Given the description of an element on the screen output the (x, y) to click on. 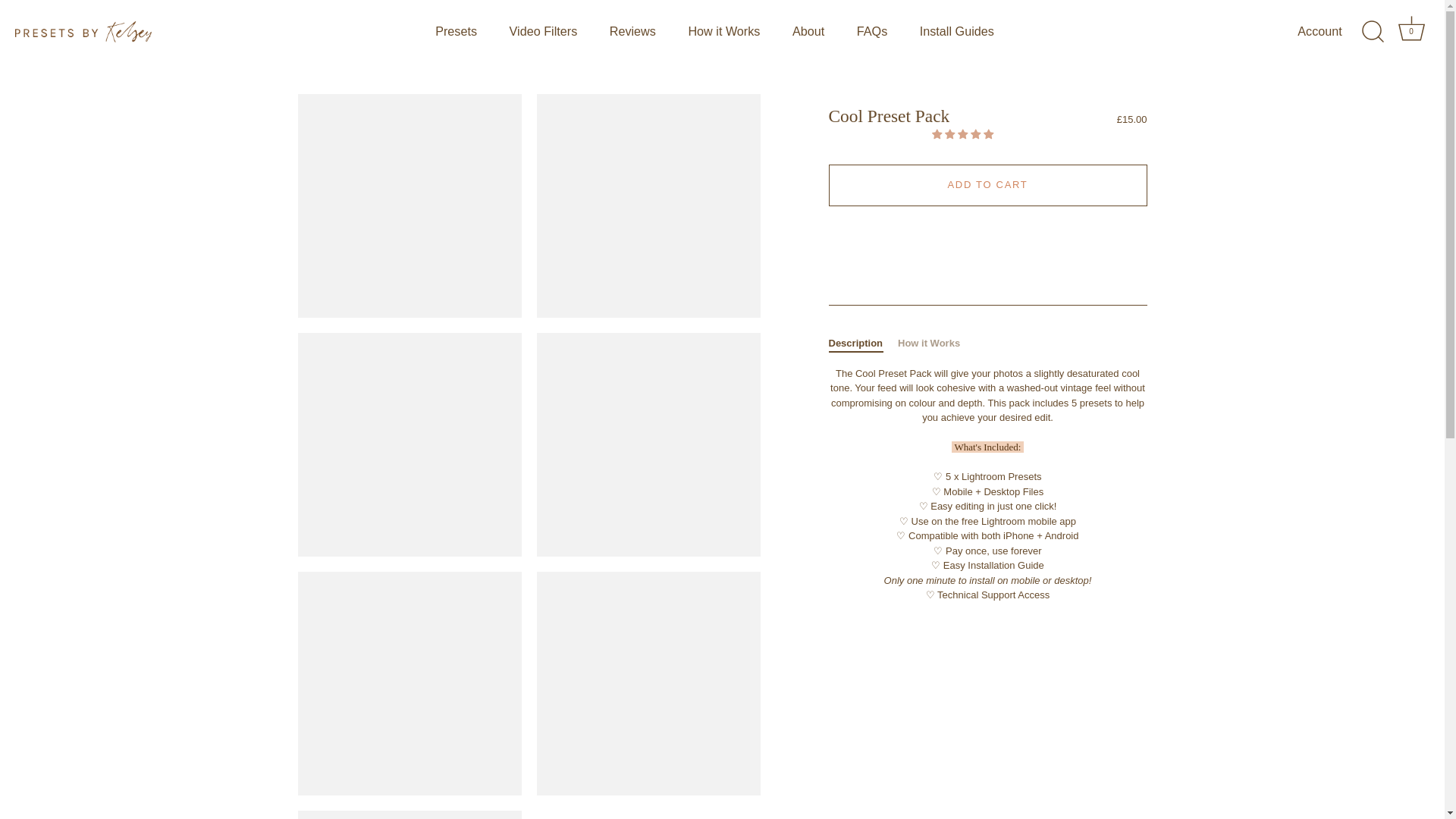
Install Guides (956, 31)
Cart (1411, 28)
FAQs (871, 31)
Account (1332, 31)
About (808, 31)
Reviews (631, 31)
Video Filters (543, 31)
Presets (1411, 31)
How it Works (456, 31)
ADD TO CART (723, 31)
